Given the description of an element on the screen output the (x, y) to click on. 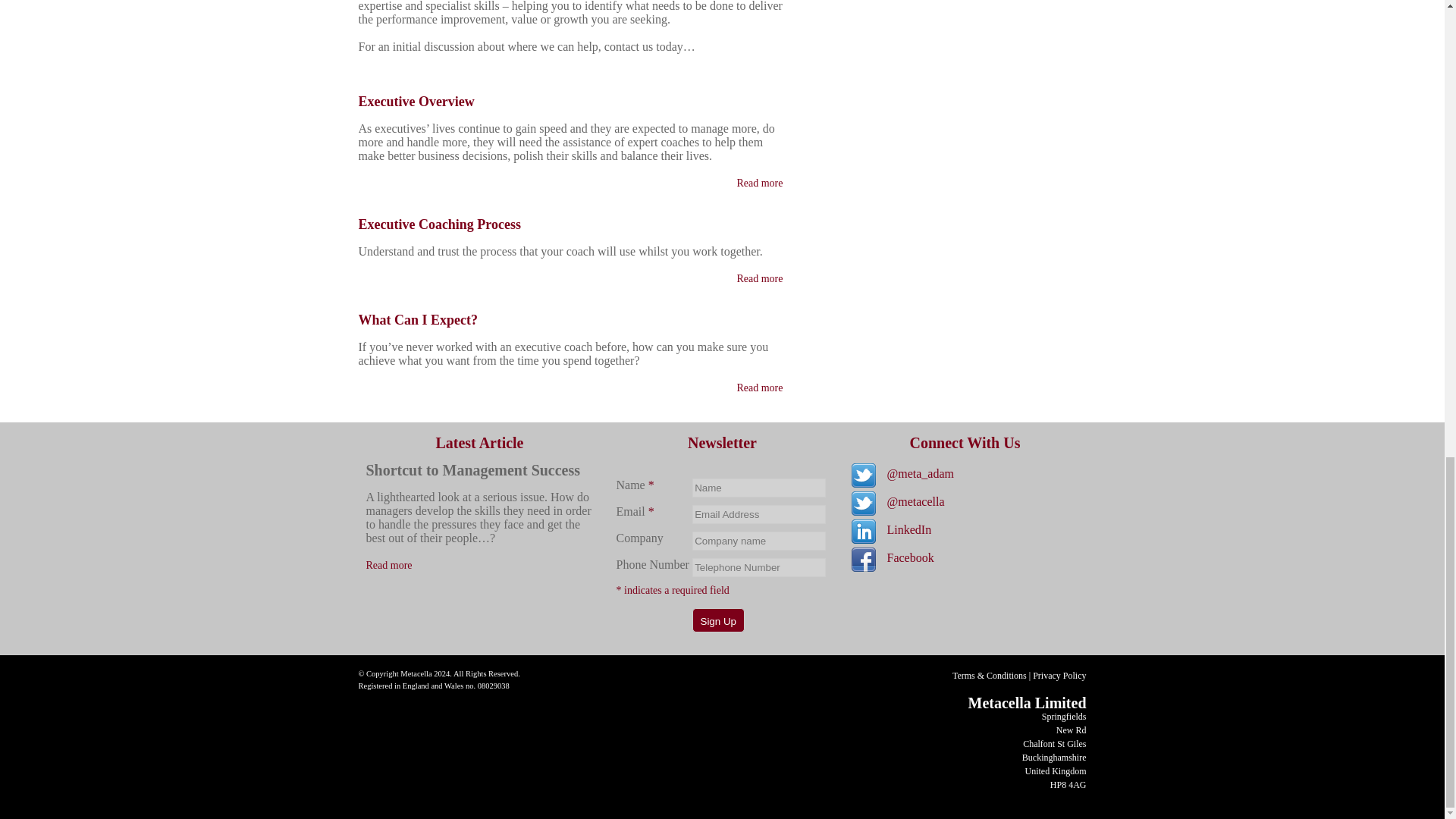
Read more (759, 183)
Read more (388, 564)
Facebook (910, 557)
Privacy Policy (1059, 675)
Terms and conditions (989, 675)
Sign Up (717, 619)
Executive Coaching Process (438, 224)
Read more (388, 564)
What Can I Expect? (417, 319)
